Given the description of an element on the screen output the (x, y) to click on. 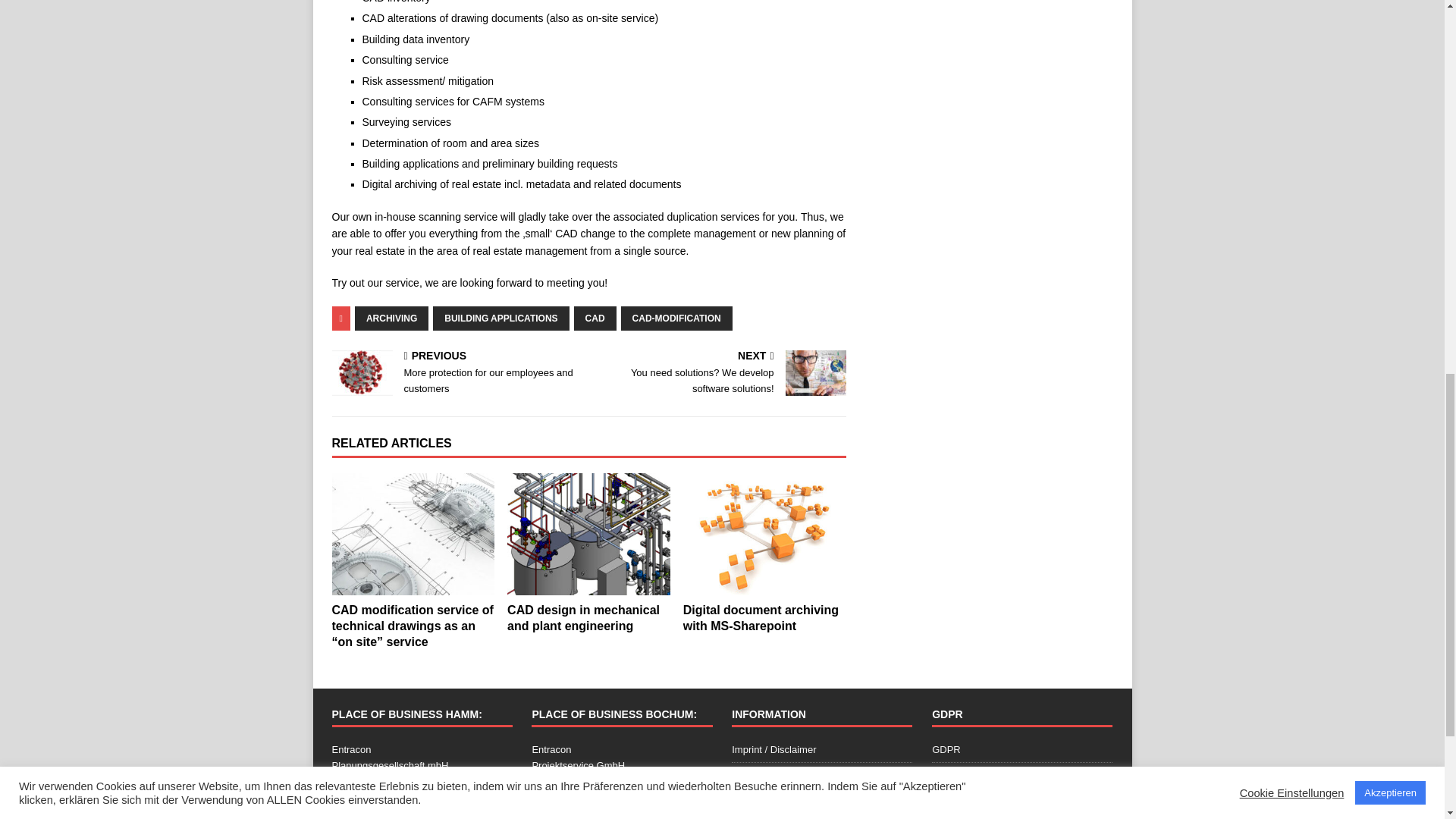
CAD design in mechanical and plant engineering (582, 617)
Digital document archiving with MS-Sharepoint (763, 534)
CAD design in mechanical and plant engineering (587, 534)
Digital document archiving with MS-Sharepoint (760, 617)
